Given the description of an element on the screen output the (x, y) to click on. 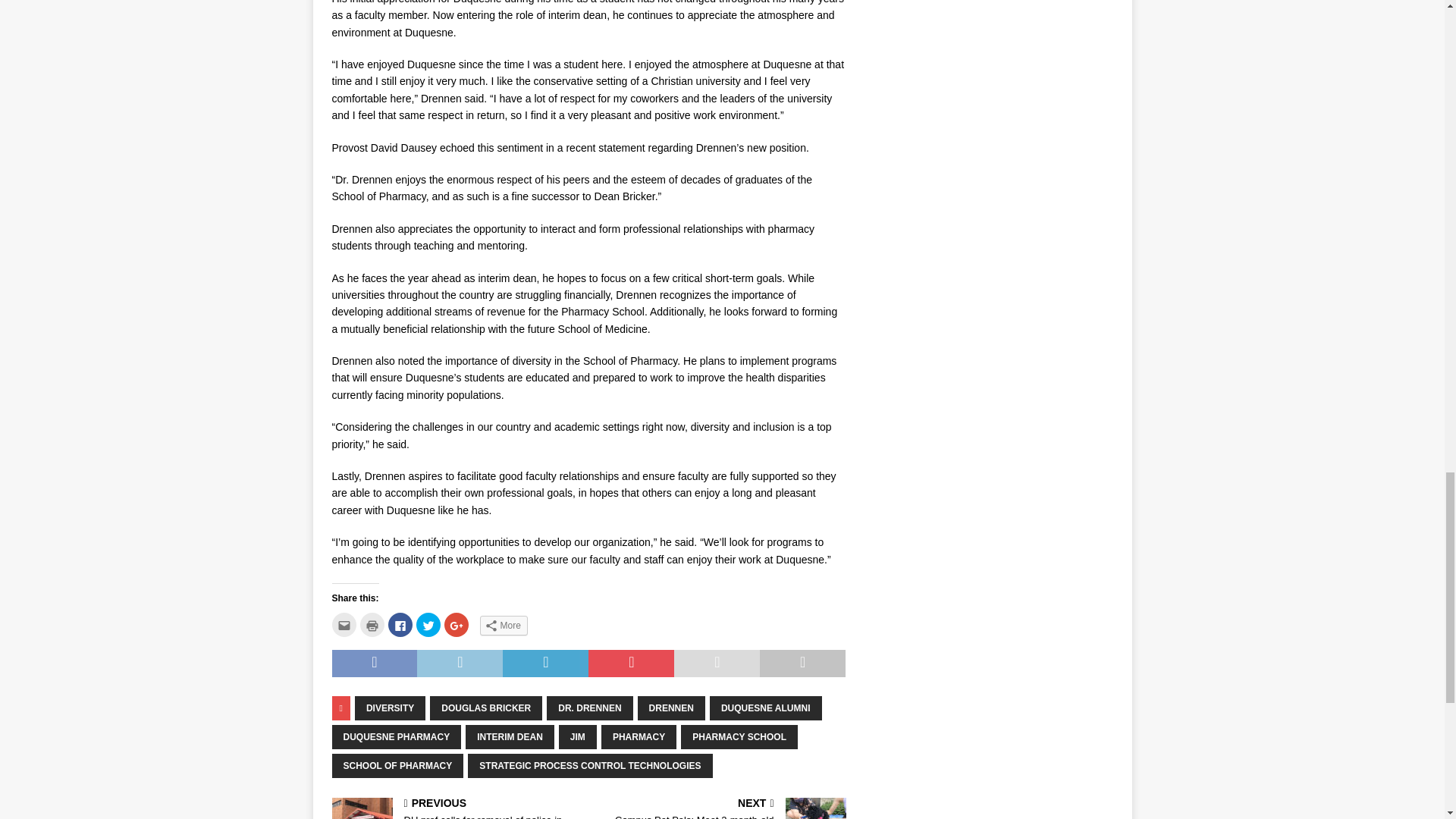
Click to email this to a friend (343, 624)
Click to share on Twitter (426, 624)
Click to print (371, 624)
Click to share on Facebook (400, 624)
